Given the description of an element on the screen output the (x, y) to click on. 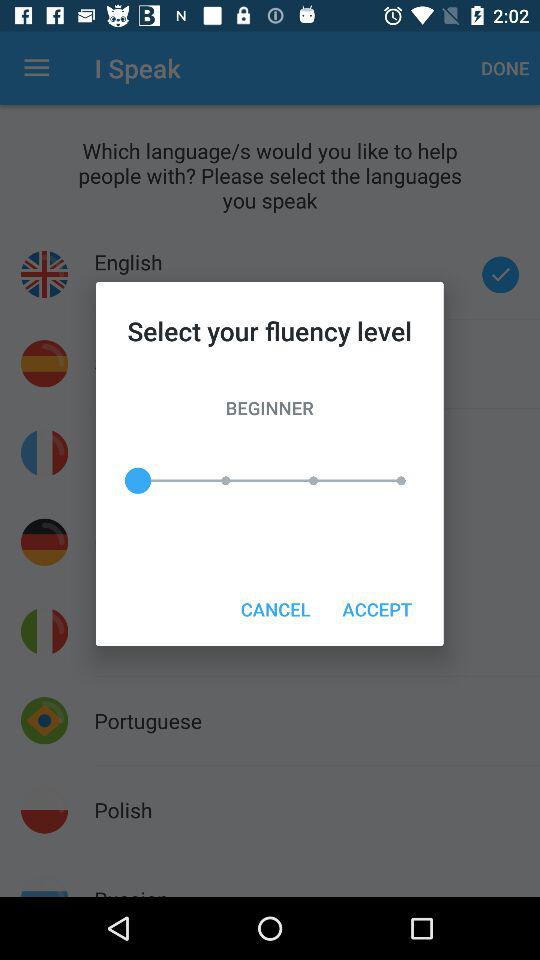
open the icon to the right of the cancel icon (376, 608)
